Given the description of an element on the screen output the (x, y) to click on. 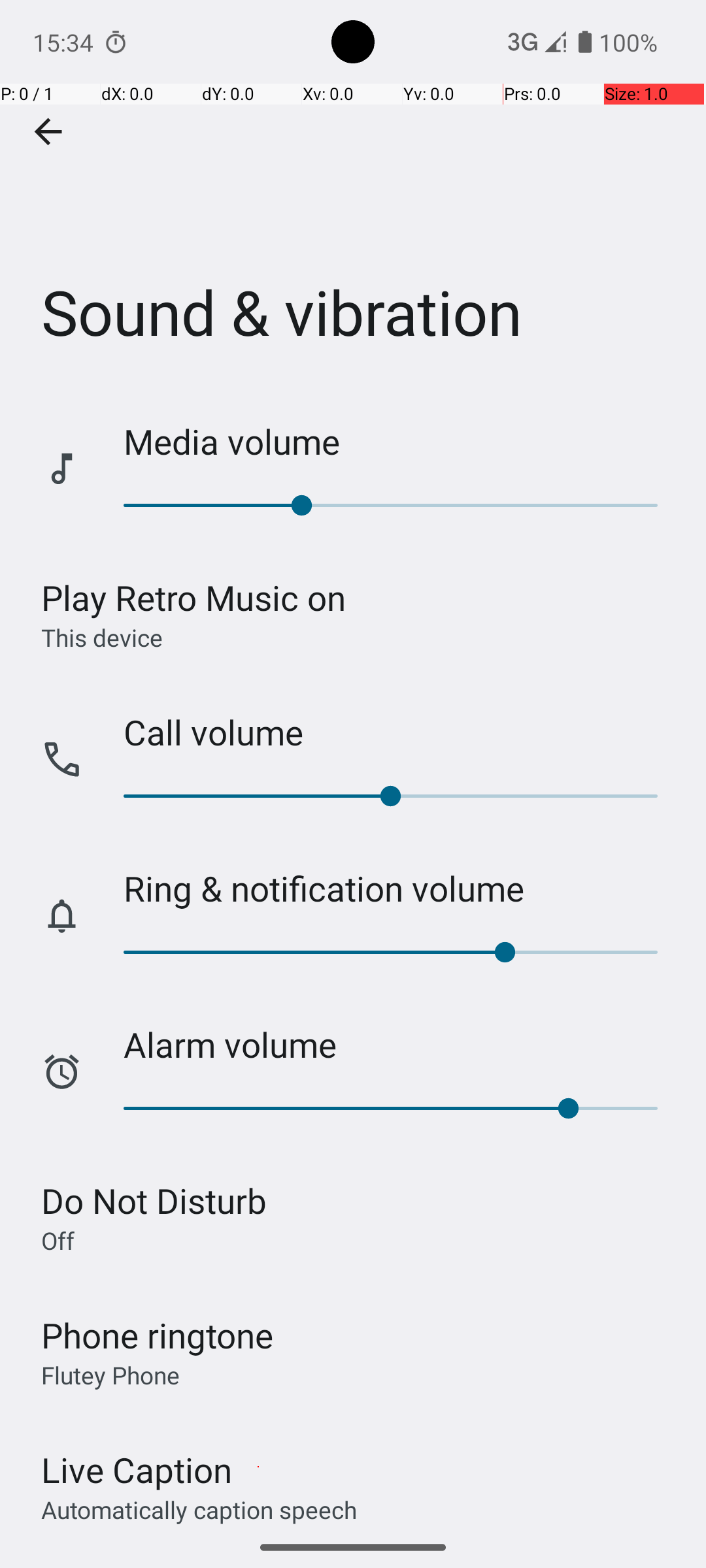
Media volume Element type: android.widget.TextView (400, 441)
Play Retro Music on Element type: android.widget.TextView (193, 597)
This device Element type: android.widget.TextView (101, 636)
Call volume Element type: android.widget.TextView (400, 731)
Ring & notification volume Element type: android.widget.TextView (400, 888)
Alarm volume Element type: android.widget.TextView (400, 1044)
Do Not Disturb Element type: android.widget.TextView (153, 1200)
Phone ringtone Element type: android.widget.TextView (157, 1334)
Flutey Phone Element type: android.widget.TextView (110, 1374)
Live Caption Element type: android.widget.TextView (136, 1469)
Automatically caption speech Element type: android.widget.TextView (199, 1509)
